Given the description of an element on the screen output the (x, y) to click on. 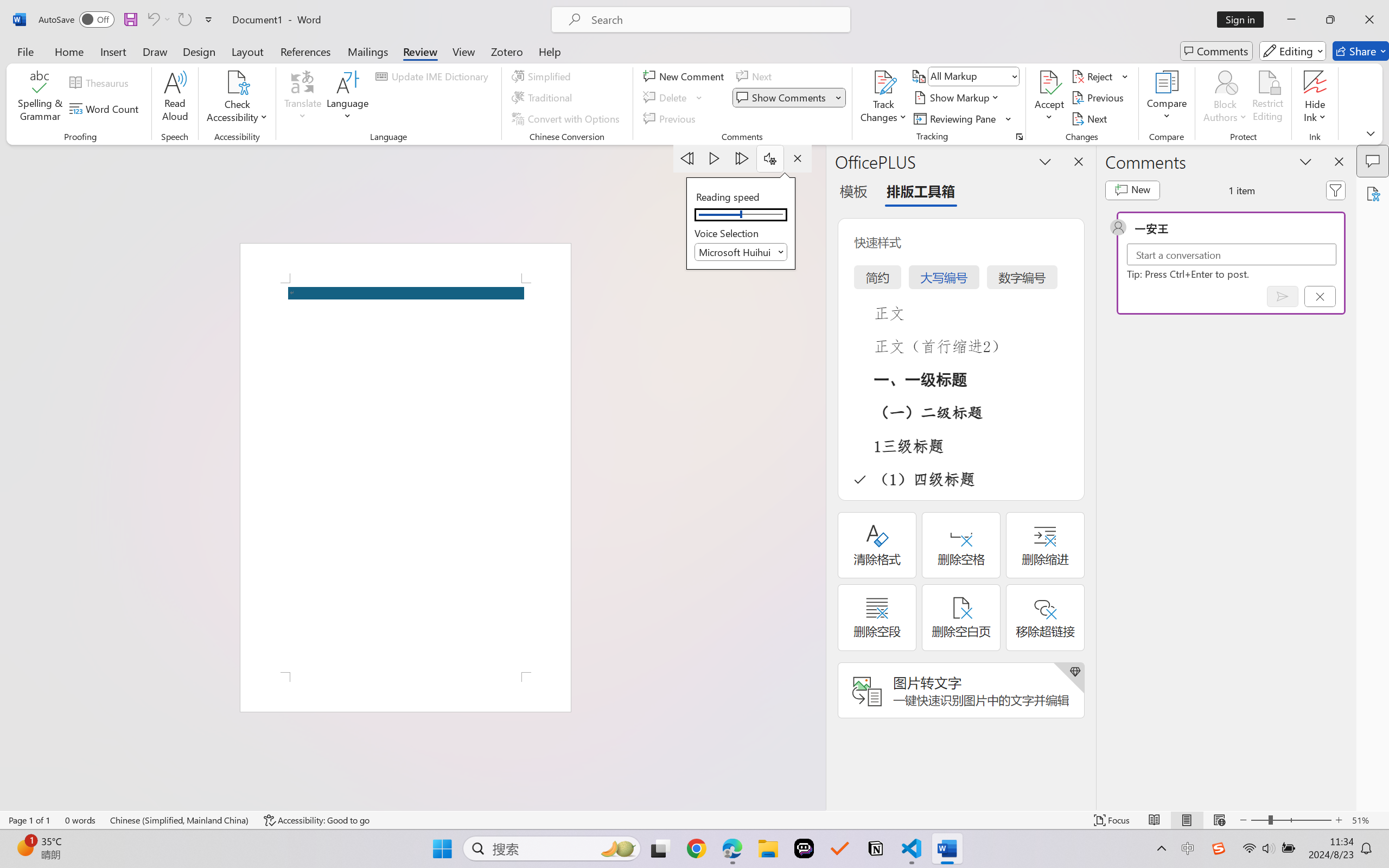
Check Accessibility (237, 97)
Update IME Dictionary... (433, 75)
Language (347, 97)
Hide Ink (1315, 81)
